Given the description of an element on the screen output the (x, y) to click on. 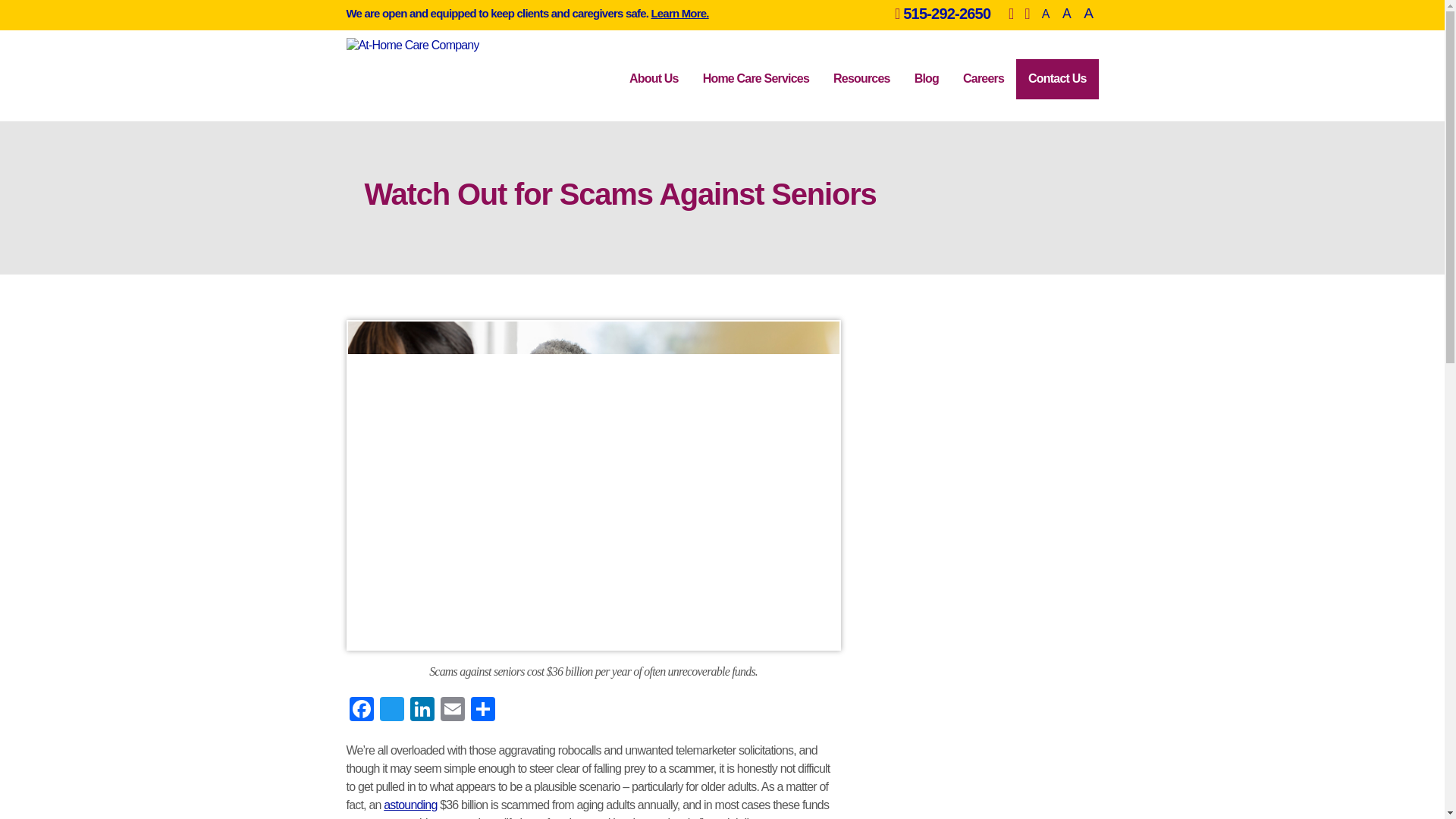
Twitter (390, 712)
Email (451, 712)
Twitter (390, 712)
Resources (860, 78)
About Us (653, 78)
515-292-2650 (946, 13)
LinkedIn (421, 712)
Careers (983, 78)
Email (451, 712)
